Given the description of an element on the screen output the (x, y) to click on. 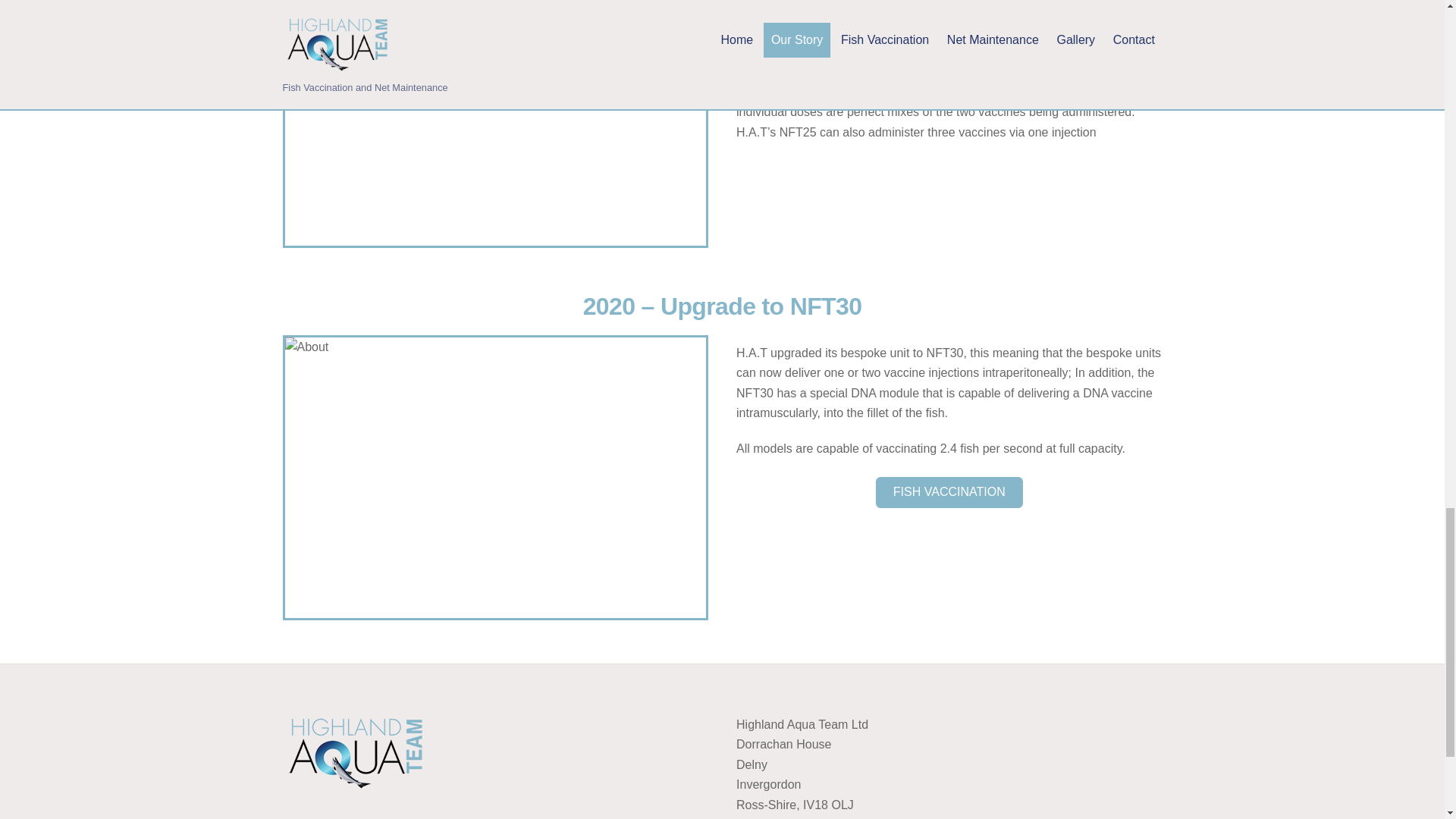
About (495, 477)
About (495, 122)
FISH VACCINATION (950, 491)
